Given the description of an element on the screen output the (x, y) to click on. 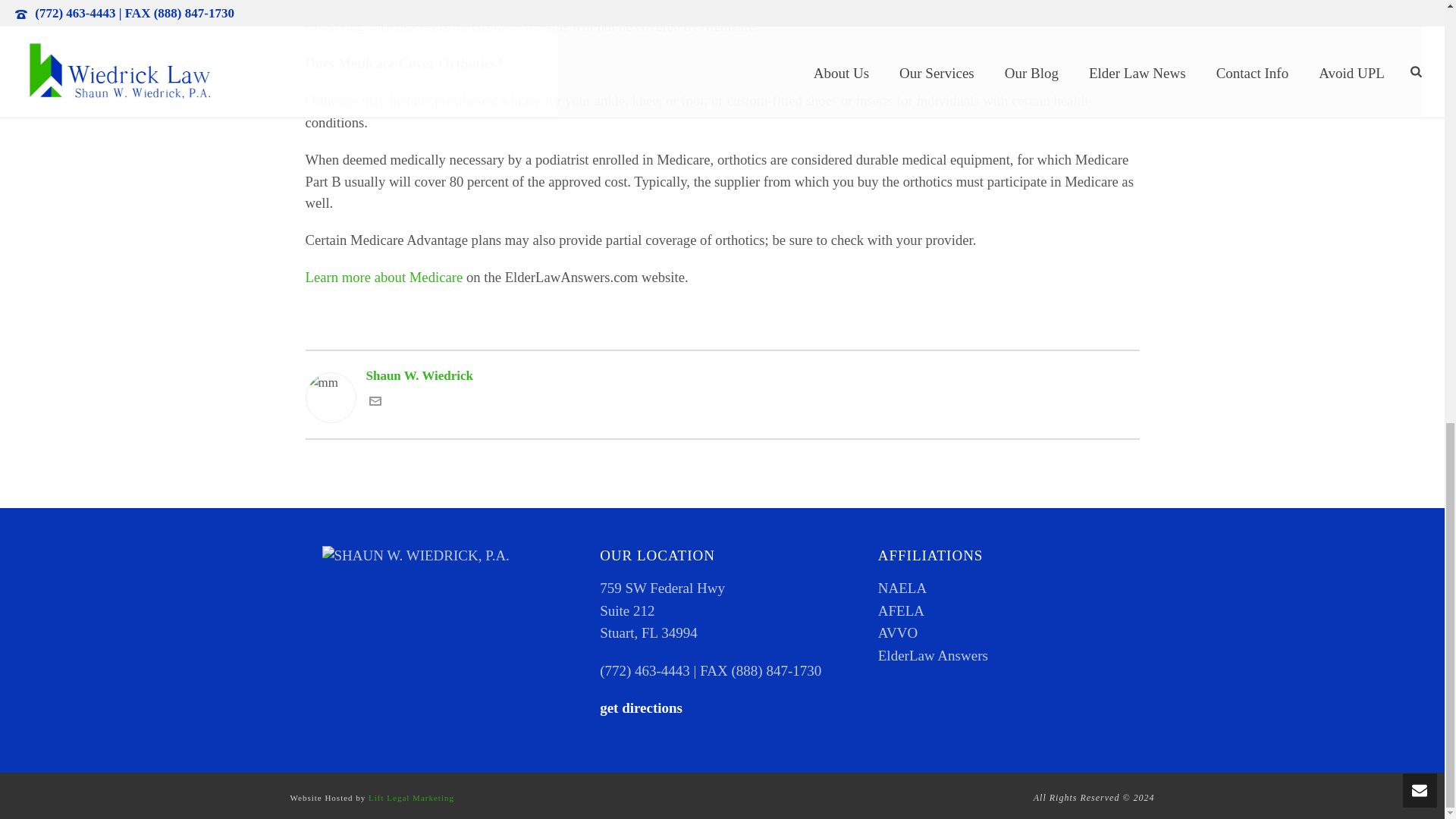
Shaun W. Wiedrick (721, 375)
Learn more about Medicare (383, 277)
Get in touch with me via email (374, 402)
get directions (640, 707)
Lift Legal Marketing (411, 797)
